Given the description of an element on the screen output the (x, y) to click on. 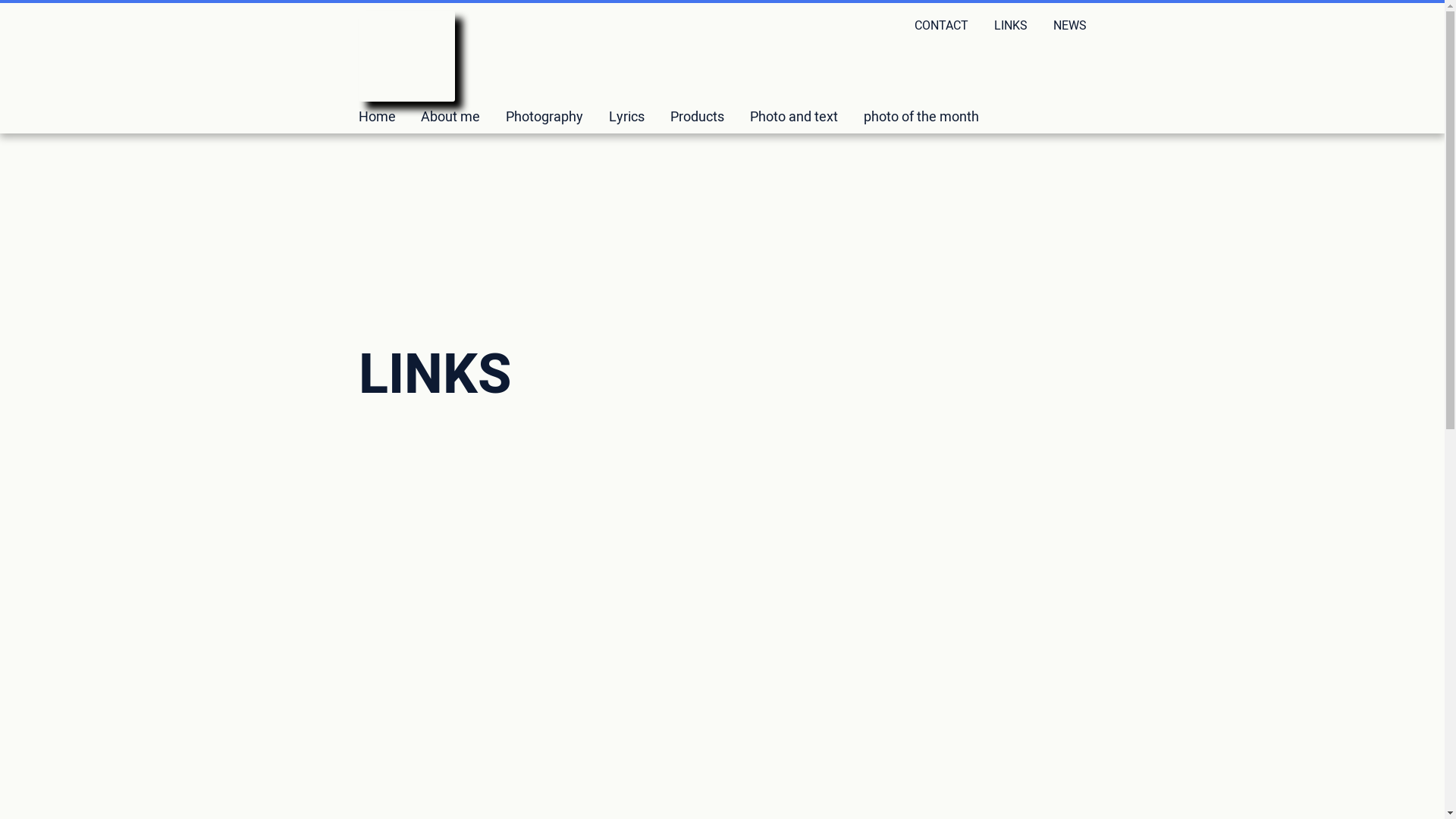
CONTACT Element type: text (941, 25)
Products Element type: text (697, 116)
Home Element type: text (376, 116)
Lyrics Element type: text (626, 116)
LINKS Element type: text (1010, 25)
NEWS Element type: text (1068, 25)
Photography Element type: text (544, 116)
About me Element type: text (450, 116)
Photo and text Element type: text (793, 116)
photo of the month Element type: text (921, 116)
